Given the description of an element on the screen output the (x, y) to click on. 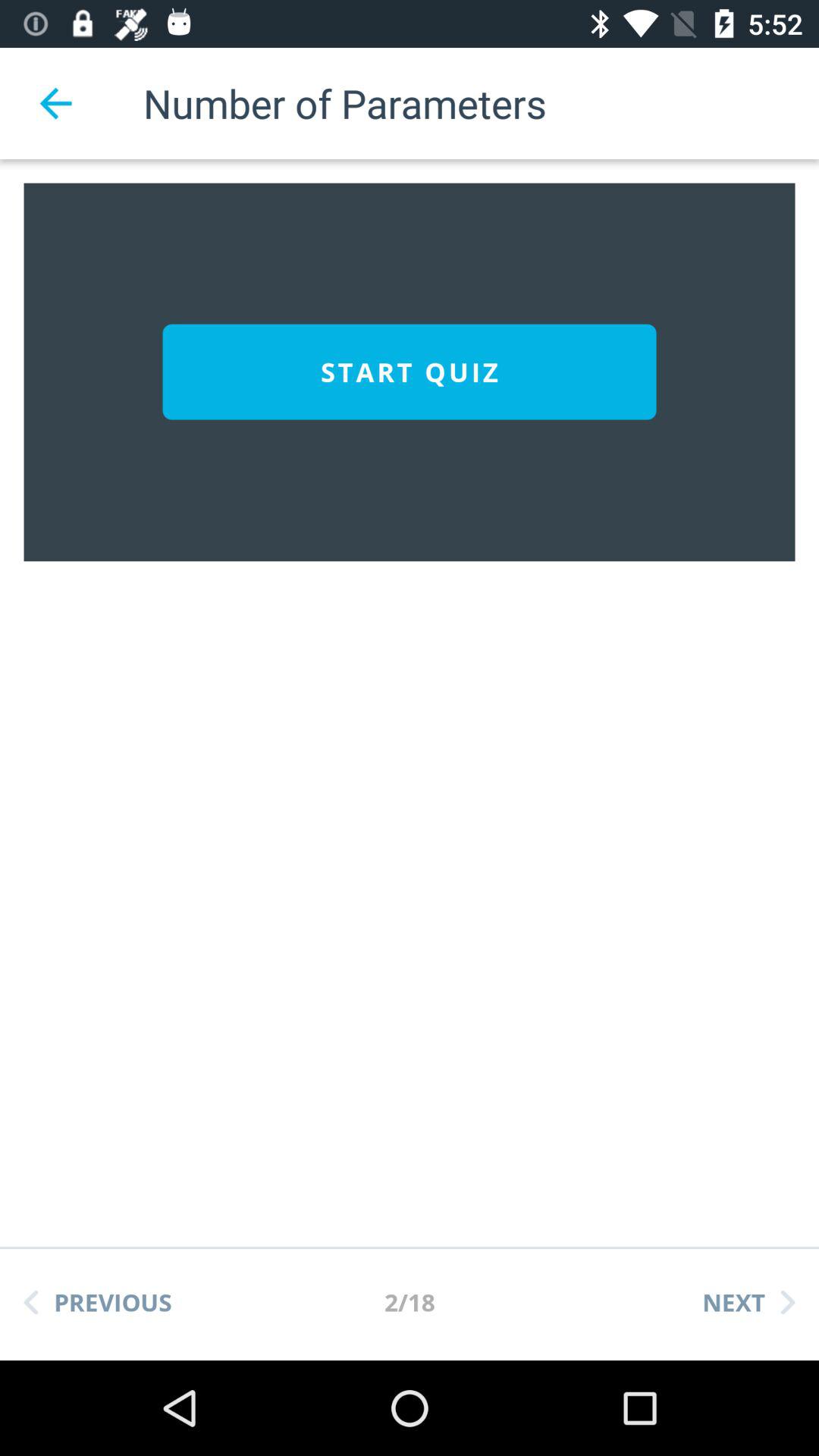
choose start quiz item (409, 371)
